Given the description of an element on the screen output the (x, y) to click on. 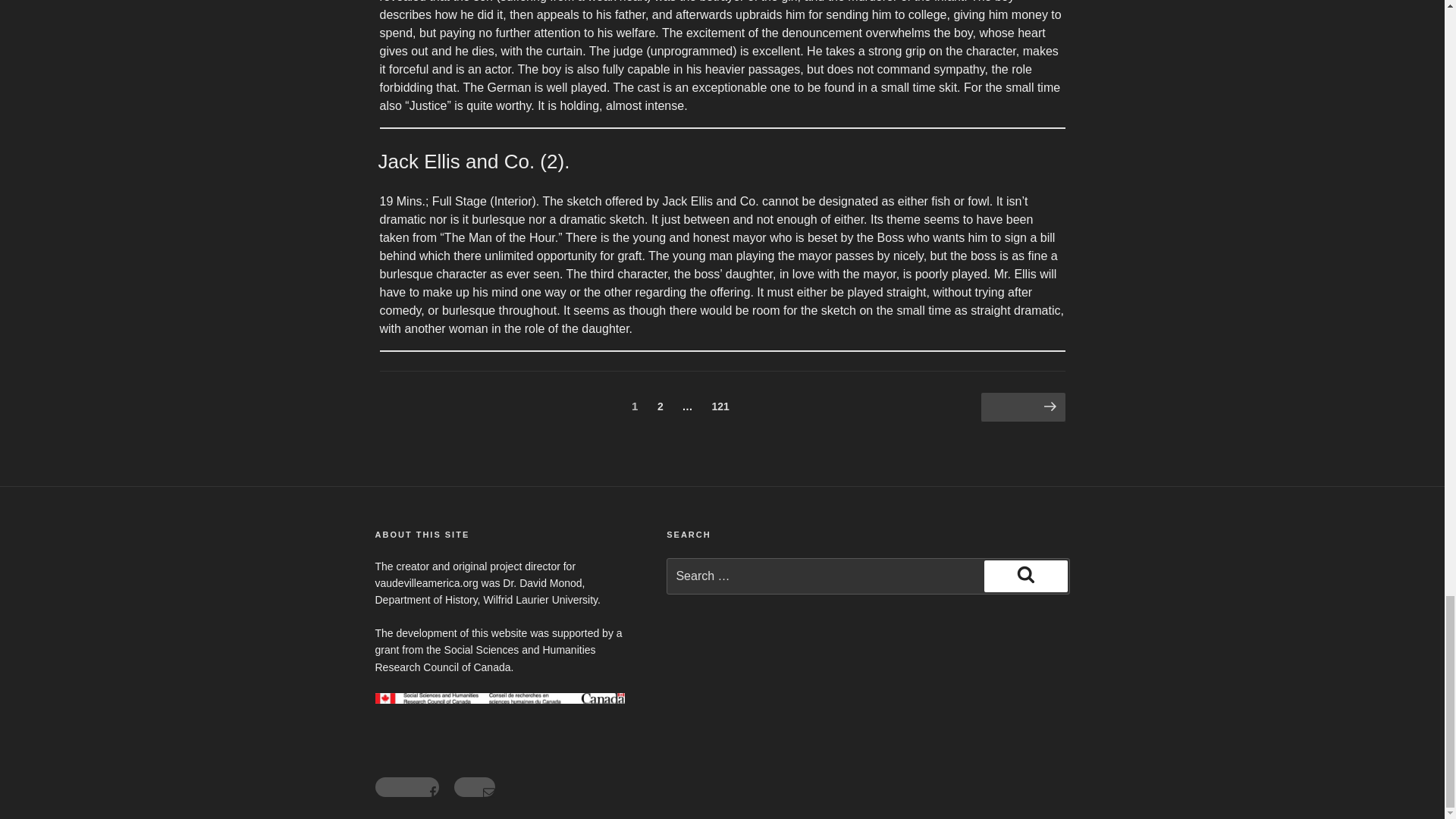
Next page (719, 406)
Email (1023, 408)
Facebook (474, 786)
Search (406, 786)
